Given the description of an element on the screen output the (x, y) to click on. 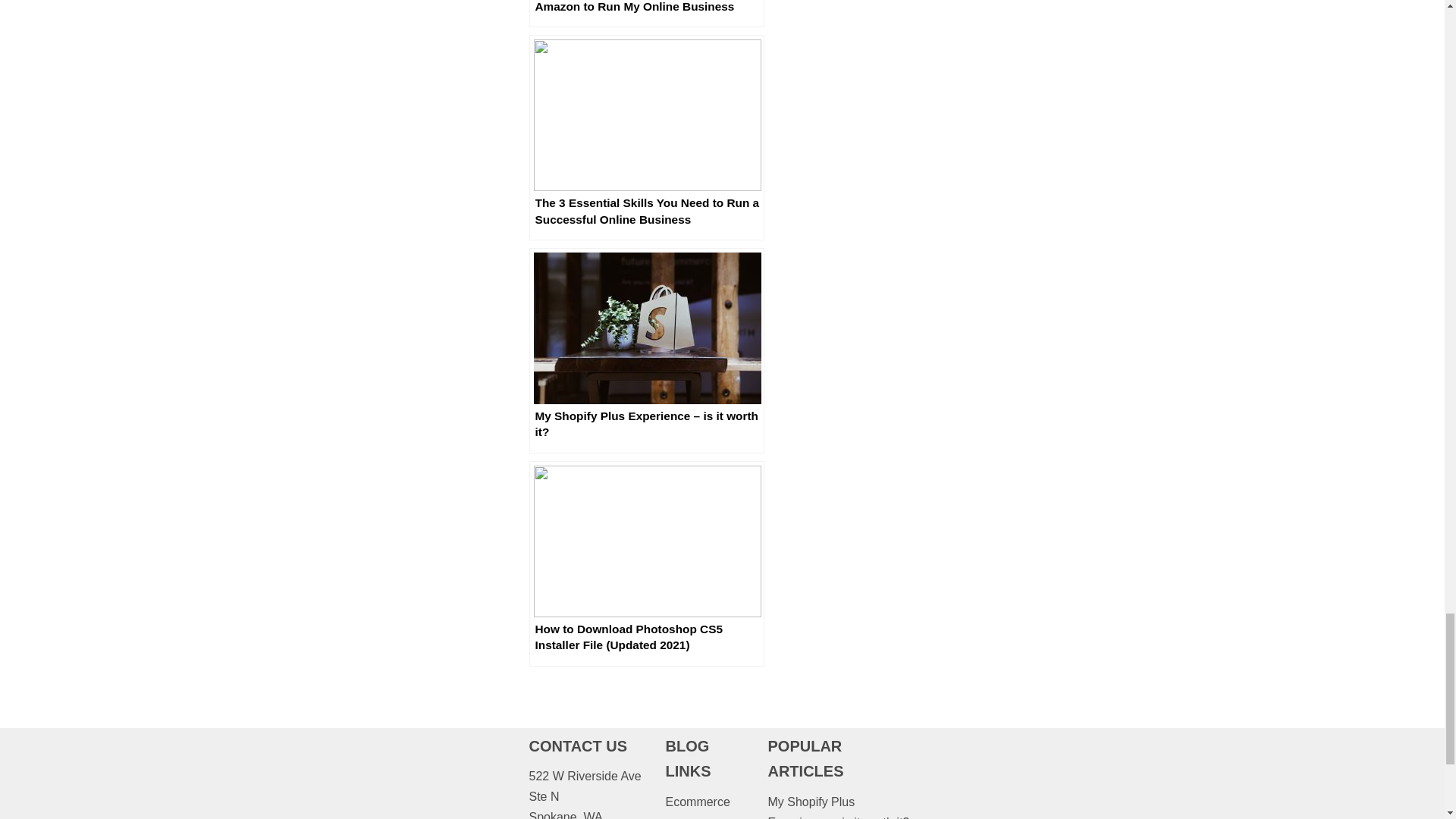
Ecommerce (697, 801)
